Given the description of an element on the screen output the (x, y) to click on. 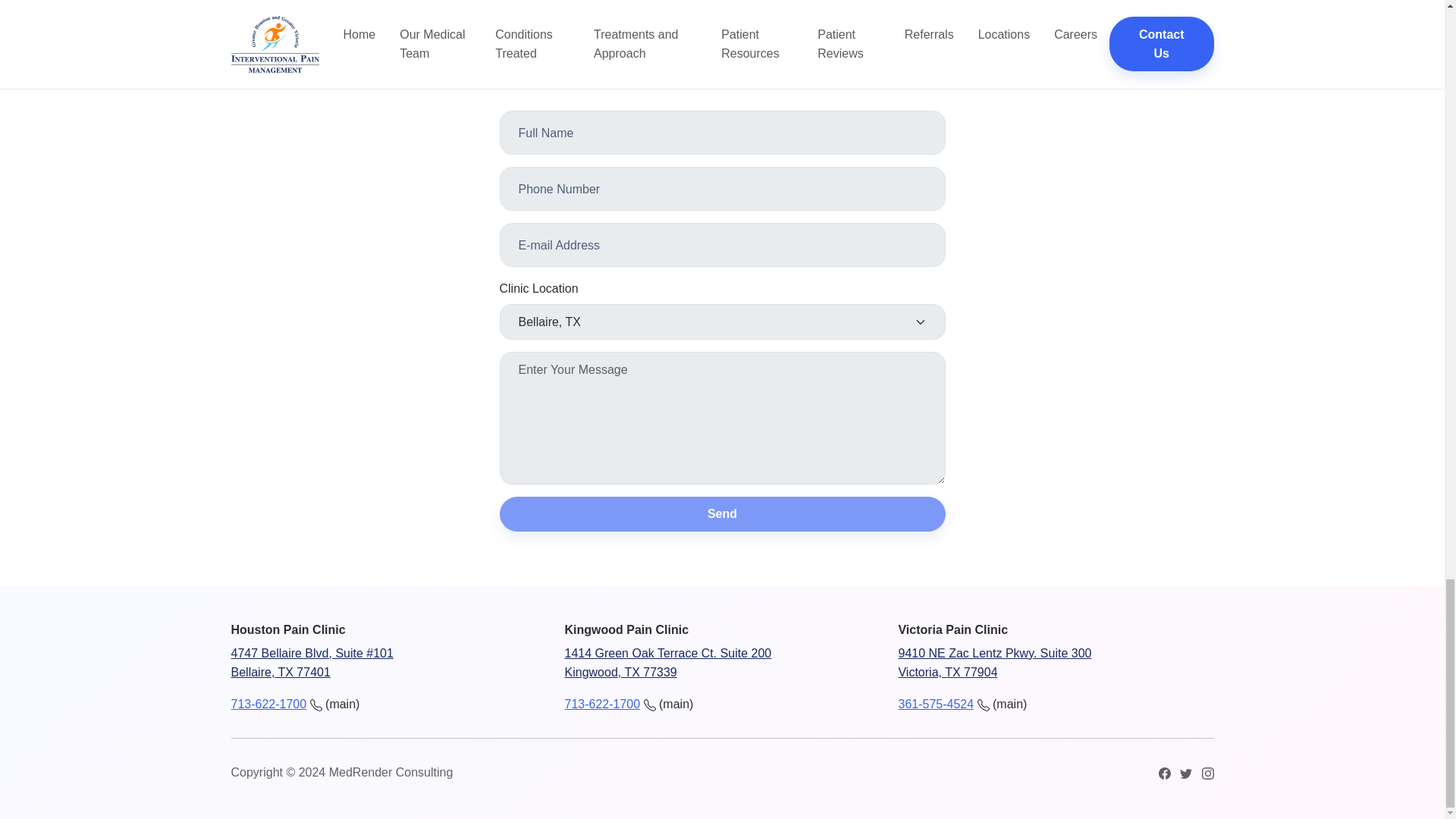
713-622-1700 (1055, 662)
Send (602, 703)
361-575-4524 (721, 662)
713-622-1700 (721, 514)
